Given the description of an element on the screen output the (x, y) to click on. 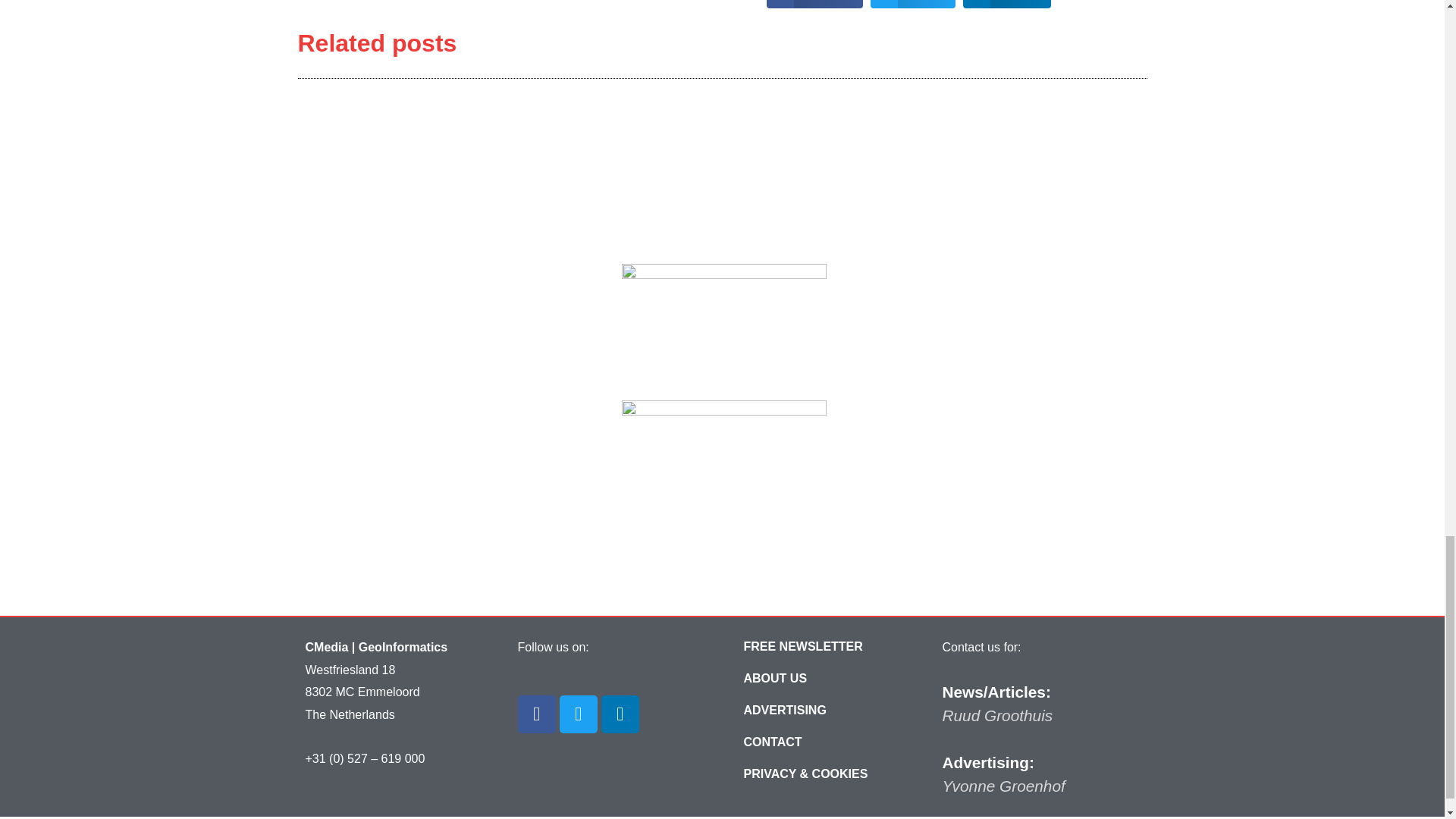
ADVERTISING (784, 710)
About GeoInformatics (774, 678)
CONTACT (772, 742)
FREE eNewsletter (802, 646)
ABOUT US (774, 678)
Advertising? (784, 710)
FREE NEWSLETTER (802, 646)
Contact (772, 742)
